Given the description of an element on the screen output the (x, y) to click on. 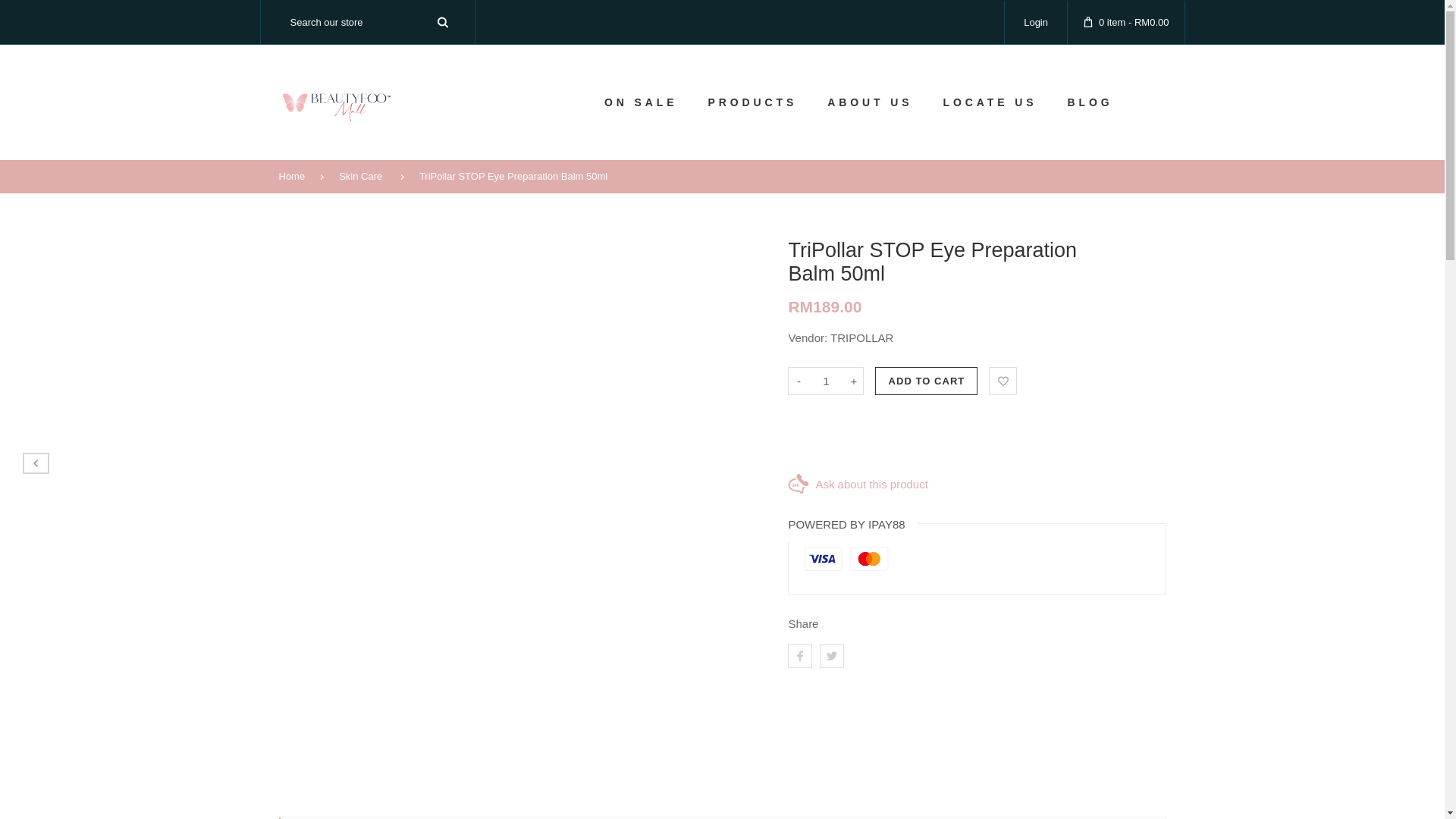
BLOG (1088, 102)
LOCATE US (990, 102)
ADD TO CART (925, 380)
Tweet on Twitter (831, 655)
Home (299, 176)
Add to Wishlist (1002, 380)
TriPollar STOP Eye Preparation Balm 50ml (521, 176)
0 item - RM0.00 (1126, 21)
Skin Care (368, 176)
PRODUCTS (752, 102)
1 (825, 380)
Ask about this product (976, 483)
ON SALE (641, 102)
Login (1035, 21)
